Given the description of an element on the screen output the (x, y) to click on. 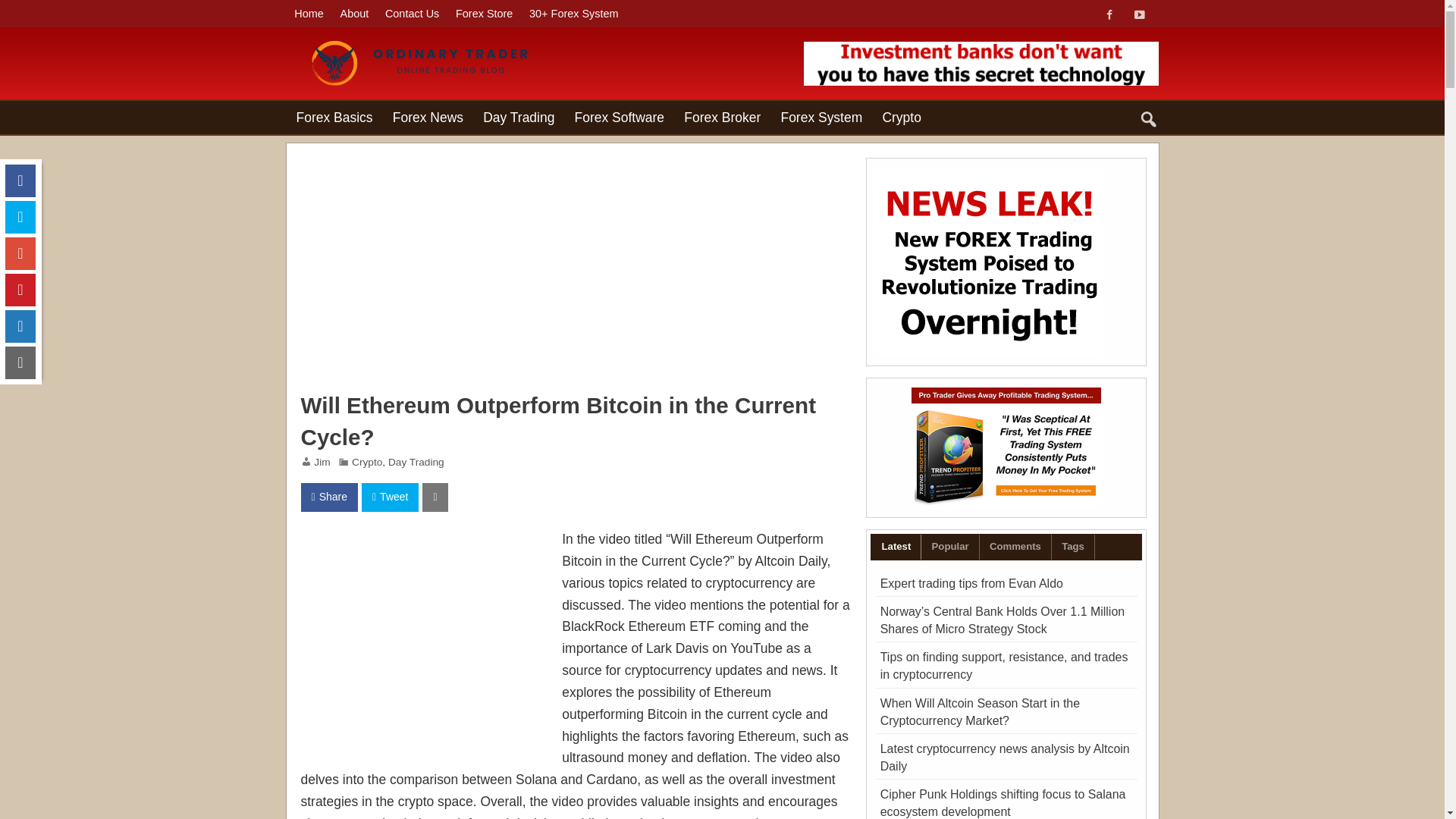
Forex News (427, 117)
Tweet on Twitter (390, 497)
Forex Trading Tips (426, 43)
Forex System (821, 117)
Share (327, 497)
View all posts by Jim (322, 461)
Forex Store (483, 13)
FX Profitude (980, 63)
Tweet (390, 497)
Crypto (901, 117)
